Given the description of an element on the screen output the (x, y) to click on. 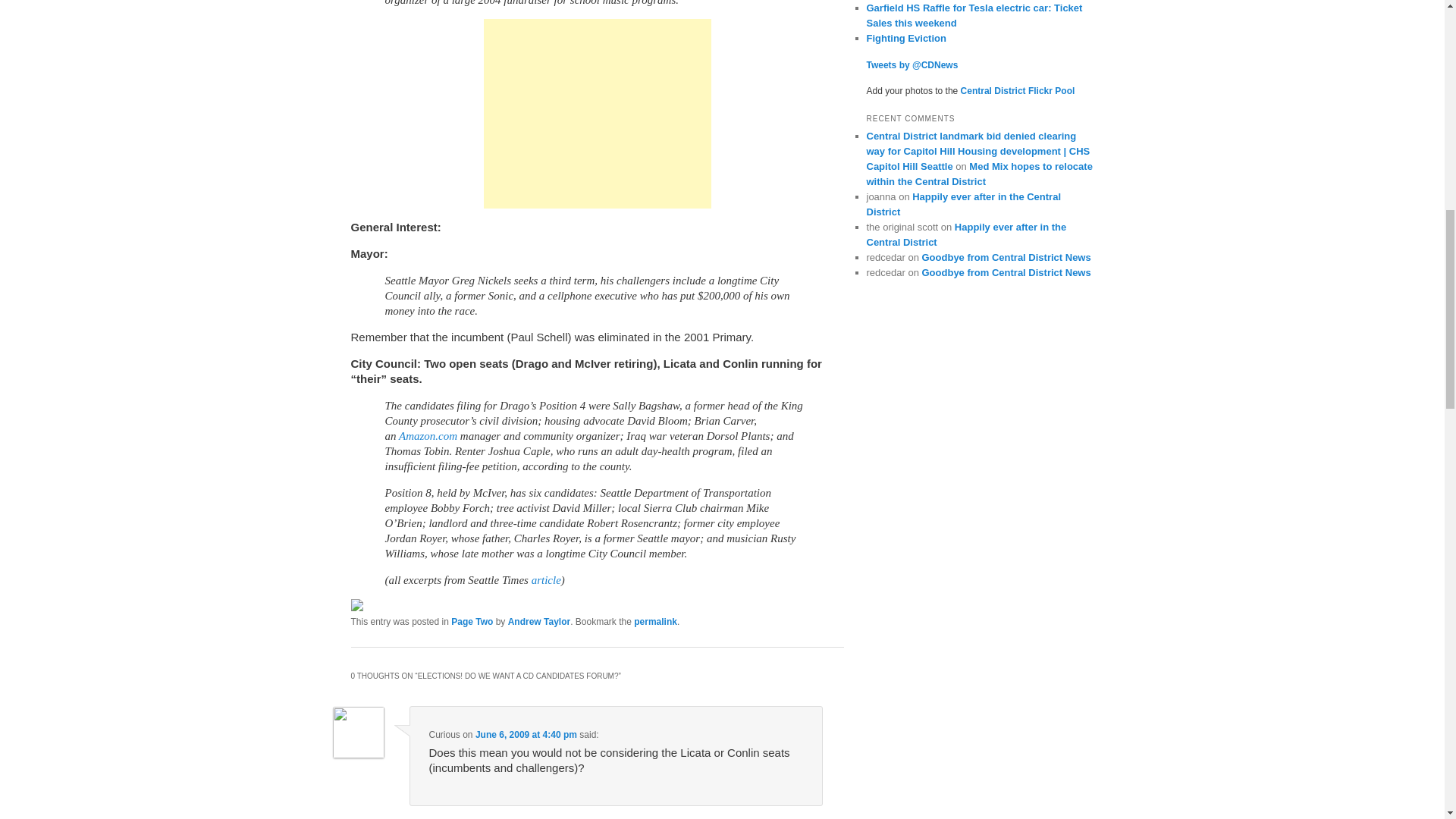
Amazon.com (427, 435)
Page Two (472, 621)
June 6, 2009 at 4:40 pm (526, 734)
Permalink to Elections! Do we want a CD Candidates Forum? (655, 621)
Advertisement (597, 113)
permalink (655, 621)
article (545, 580)
Andrew Taylor (539, 621)
